Given the description of an element on the screen output the (x, y) to click on. 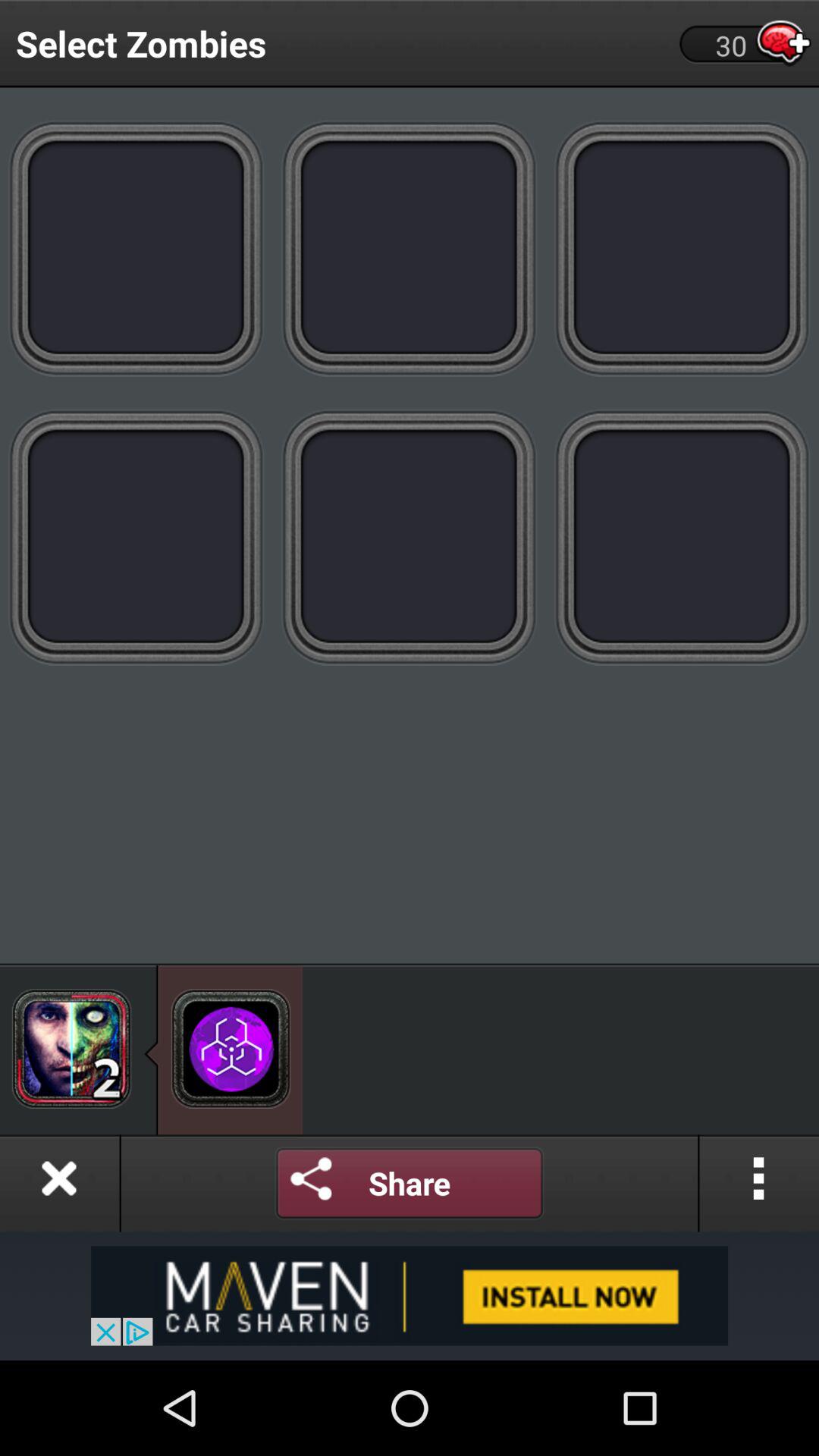
advertisement (409, 1295)
